Given the description of an element on the screen output the (x, y) to click on. 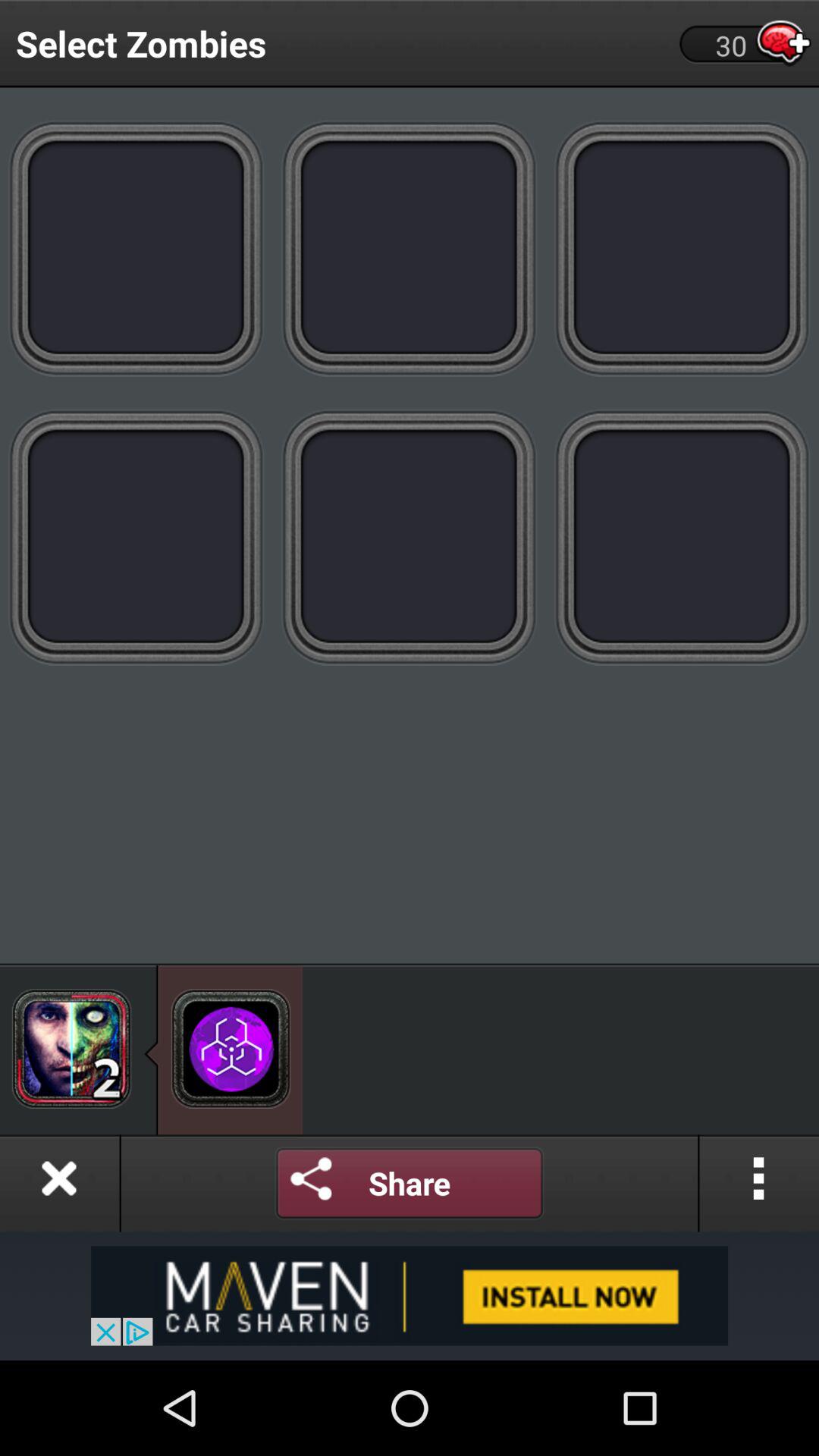
advertisement (409, 1295)
